Given the description of an element on the screen output the (x, y) to click on. 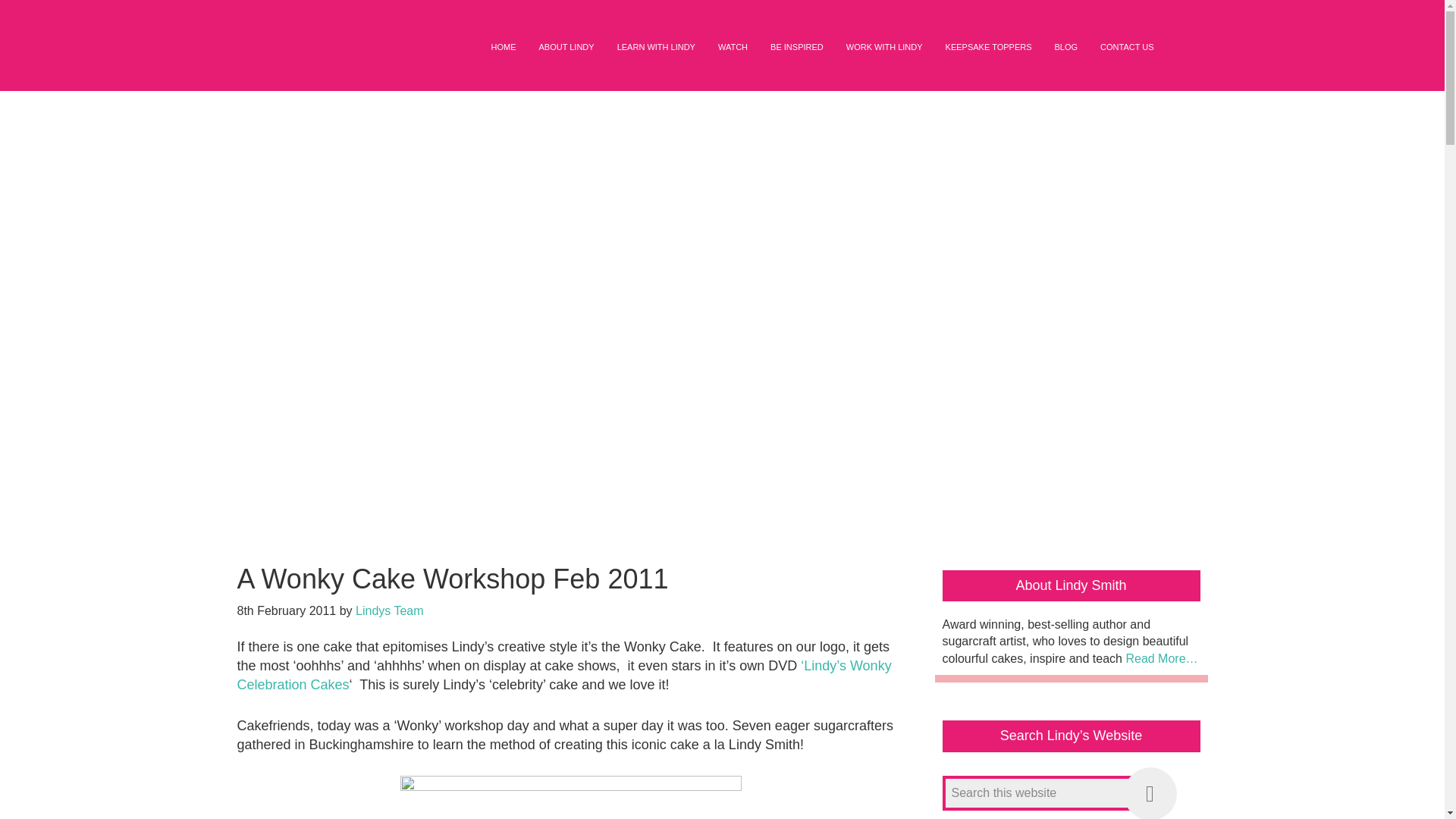
WATCH (732, 46)
WonkyFebOne (570, 797)
HOME (503, 46)
LEARN WITH LINDY (655, 46)
Lindy's Cakes Ltd (349, 60)
ABOUT LINDY (566, 46)
BE INSPIRED (796, 46)
WORK WITH LINDY (884, 46)
KEEPSAKE TOPPERS (988, 46)
